Given the description of an element on the screen output the (x, y) to click on. 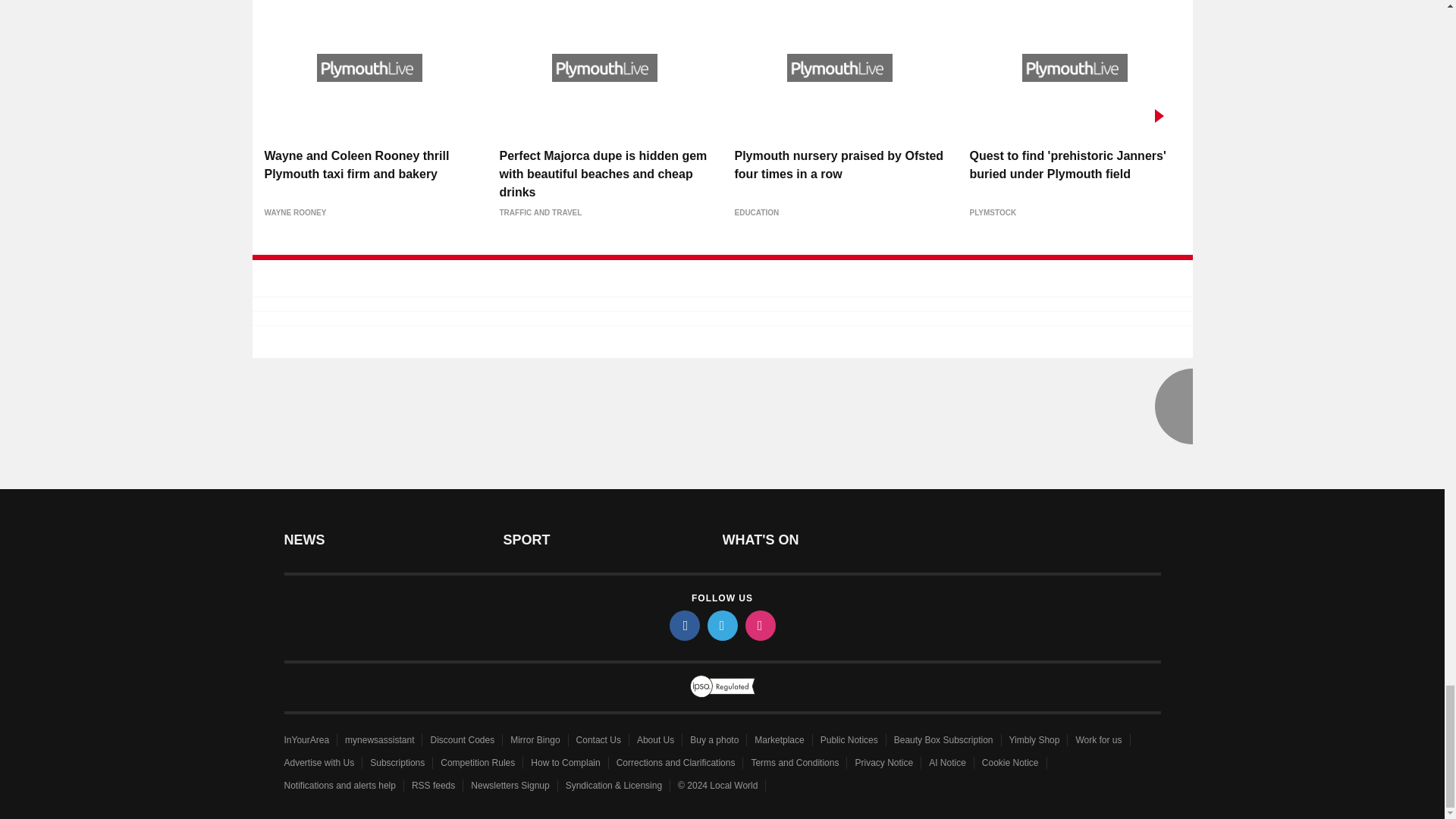
instagram (759, 625)
facebook (683, 625)
twitter (721, 625)
